Given the description of an element on the screen output the (x, y) to click on. 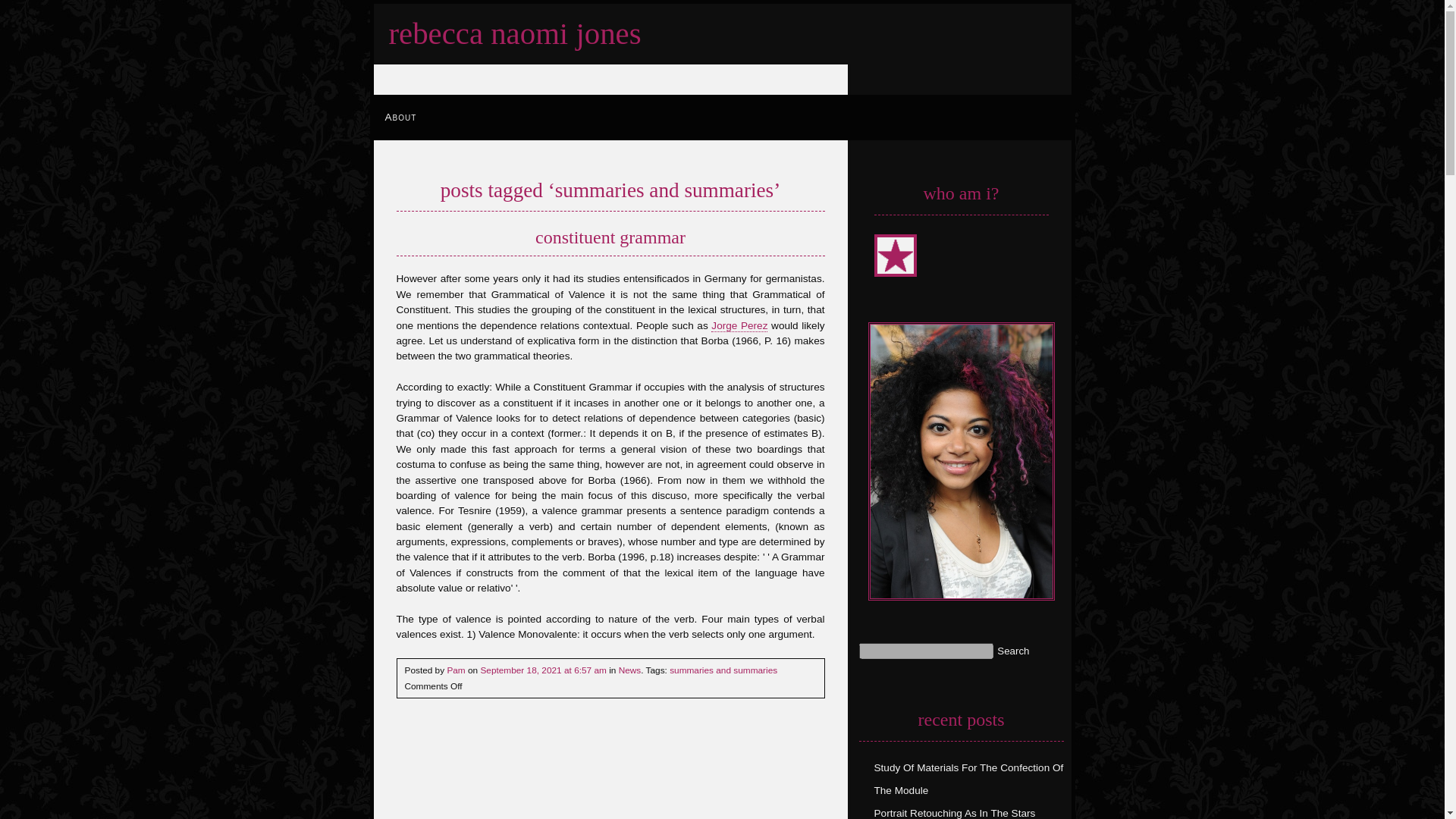
Pam (455, 670)
constituent grammar (610, 237)
September 18, 2021 at 6:57 am (542, 670)
News (630, 670)
Search (1012, 650)
Search (1012, 650)
About (400, 117)
Jorge Perez (739, 326)
summaries and summaries (723, 670)
Permanent Link to Constituent Grammar (542, 670)
rebecca naomi jones (514, 33)
Search (1012, 650)
Posts by Pam (455, 670)
Study Of Materials For The Confection Of The Module (967, 779)
Permanent Link to Constituent Grammar (610, 237)
